Given the description of an element on the screen output the (x, y) to click on. 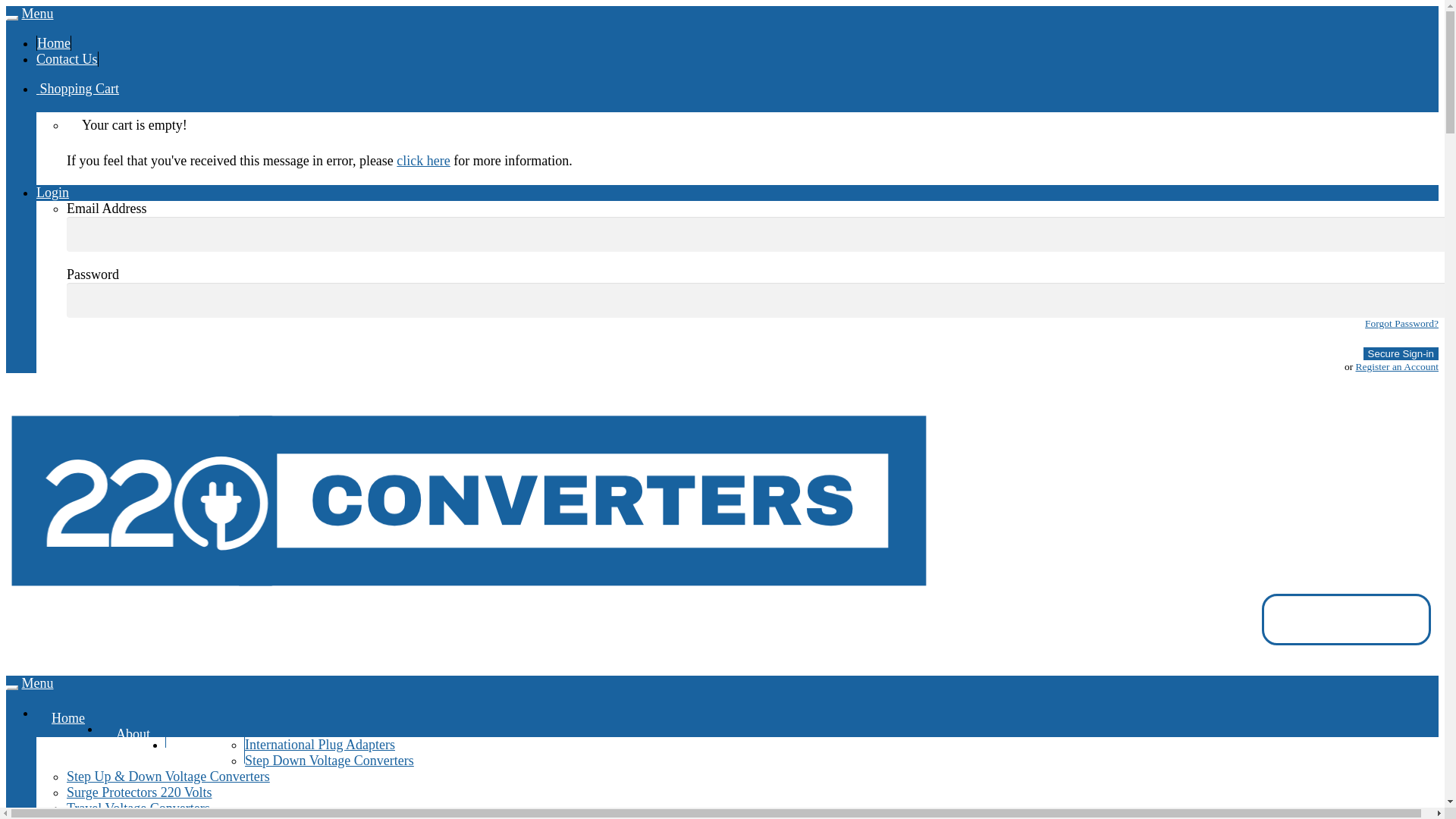
About Element type: text (133, 734)
Surge Protectors 220 Volts Element type: text (139, 792)
Step Up & Down Voltage Converters Element type: text (167, 776)
Products Element type: text (205, 750)
Gog Element type: text (14, 10)
Menu Element type: text (37, 682)
International Plug Adapters Element type: text (319, 744)
Shopping Cart Element type: text (77, 88)
Login Element type: text (52, 192)
Step Down Voltage Converters Element type: text (329, 760)
Home Element type: text (68, 718)
Menu Element type: text (37, 13)
Register an Account Element type: text (1396, 366)
Travel Voltage Converters Element type: text (138, 807)
Contact Us Element type: text (67, 58)
click here Element type: text (422, 160)
Forgot Password? Element type: text (1401, 323)
Home Element type: text (53, 42)
Secure Sign-in Element type: text (1400, 353)
